Given the description of an element on the screen output the (x, y) to click on. 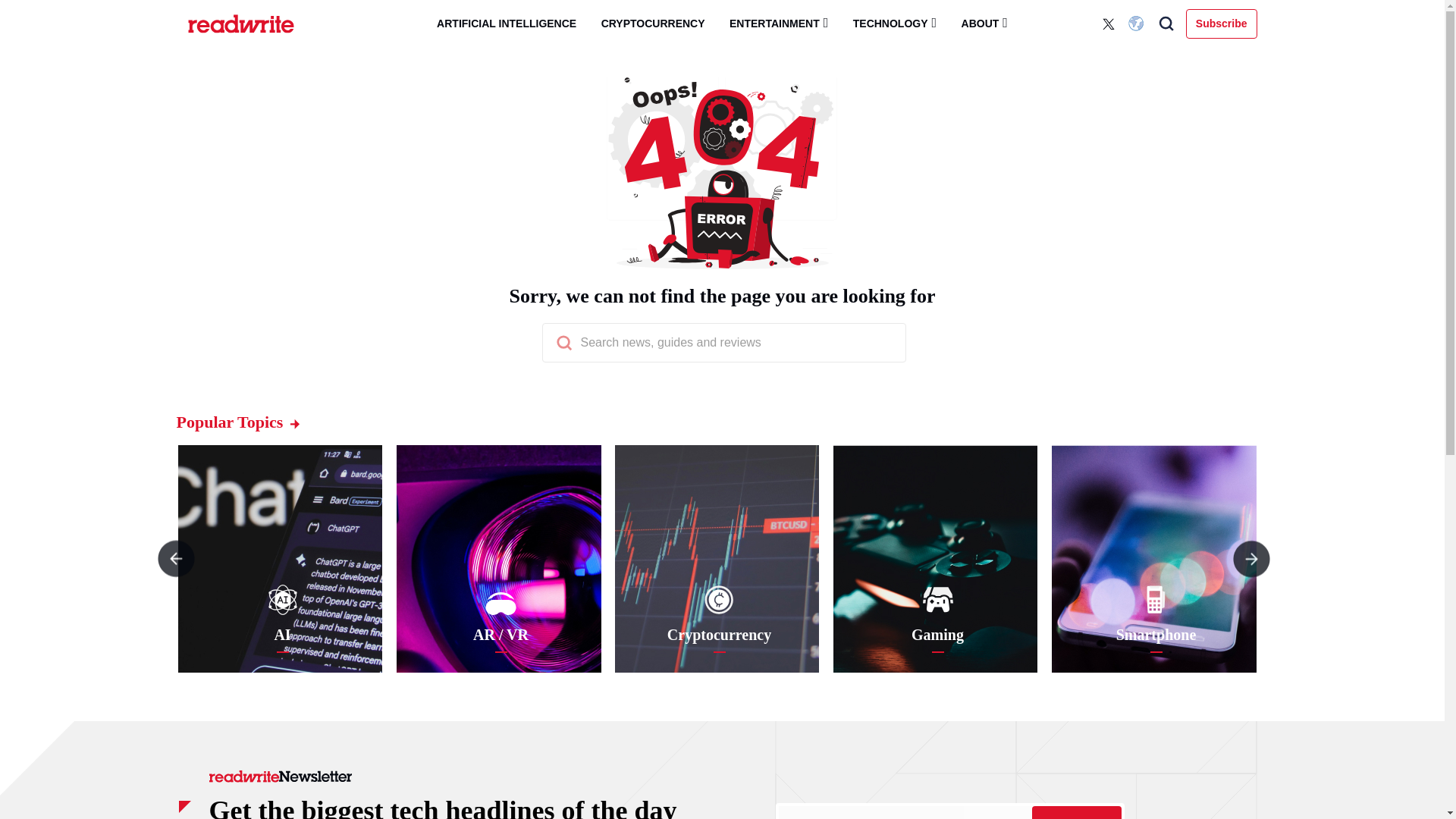
CRYPTOCURRENCY (653, 23)
Subscribe (1221, 23)
English (1137, 23)
ENTERTAINMENT (778, 23)
ABOUT (983, 23)
ARTIFICIAL INTELLIGENCE (506, 23)
TECHNOLOGY (895, 23)
Subscribe (1075, 812)
